Given the description of an element on the screen output the (x, y) to click on. 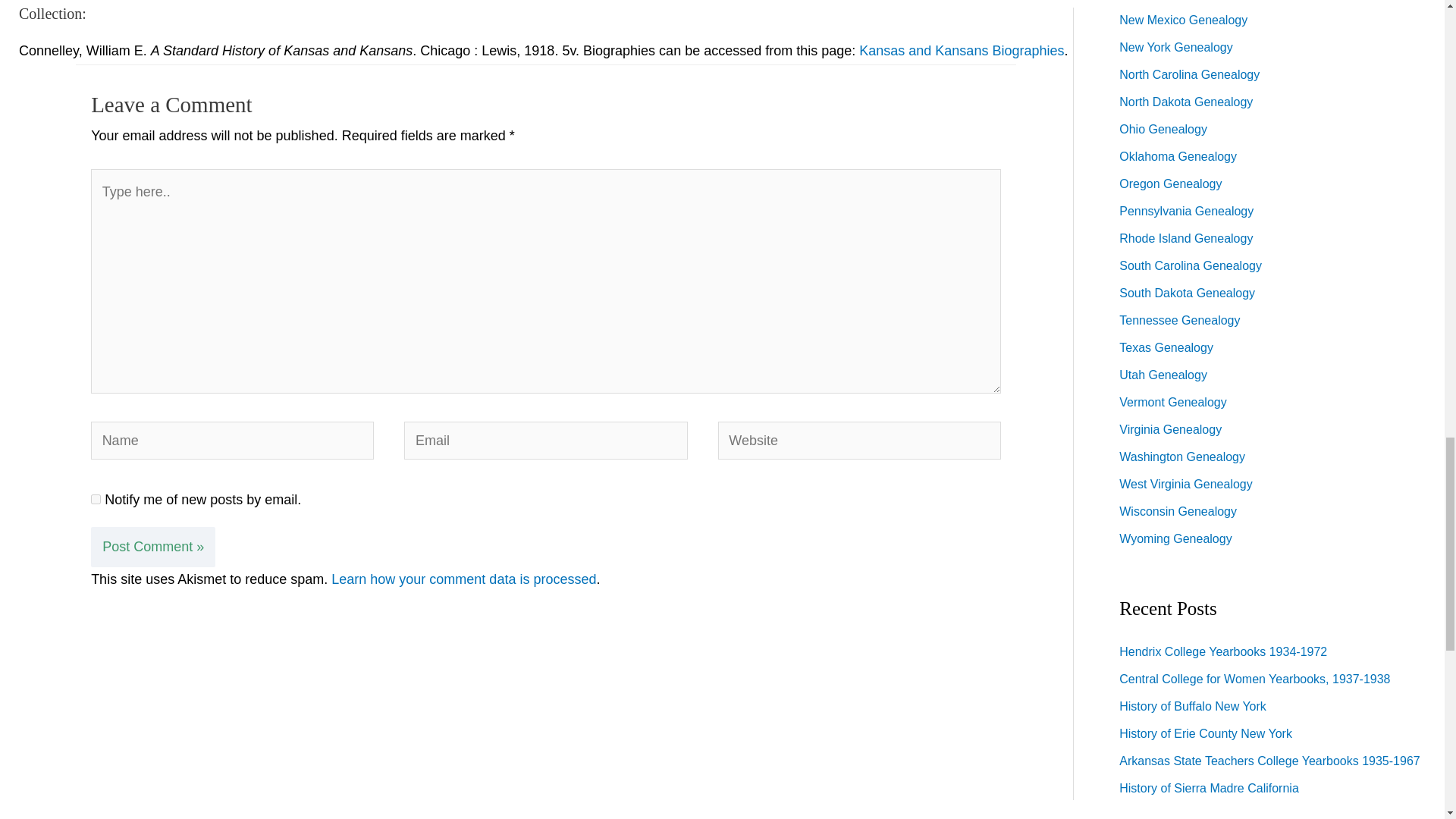
Kansas and Kansans Biographies (961, 50)
subscribe (95, 499)
Kansas and Kansans Biographies (961, 50)
